Given the description of an element on the screen output the (x, y) to click on. 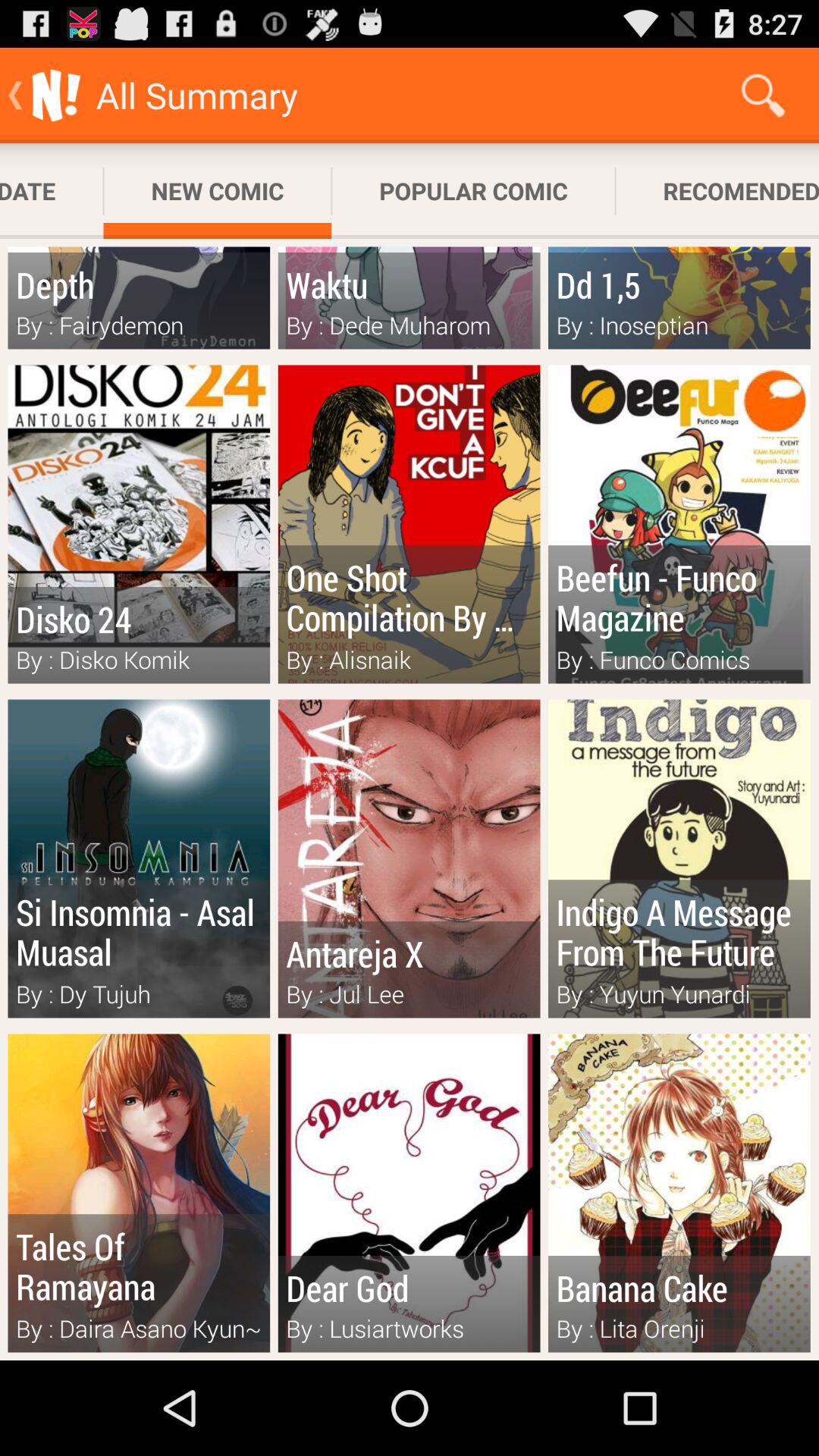
open icon next to the new comic item (51, 190)
